Given the description of an element on the screen output the (x, y) to click on. 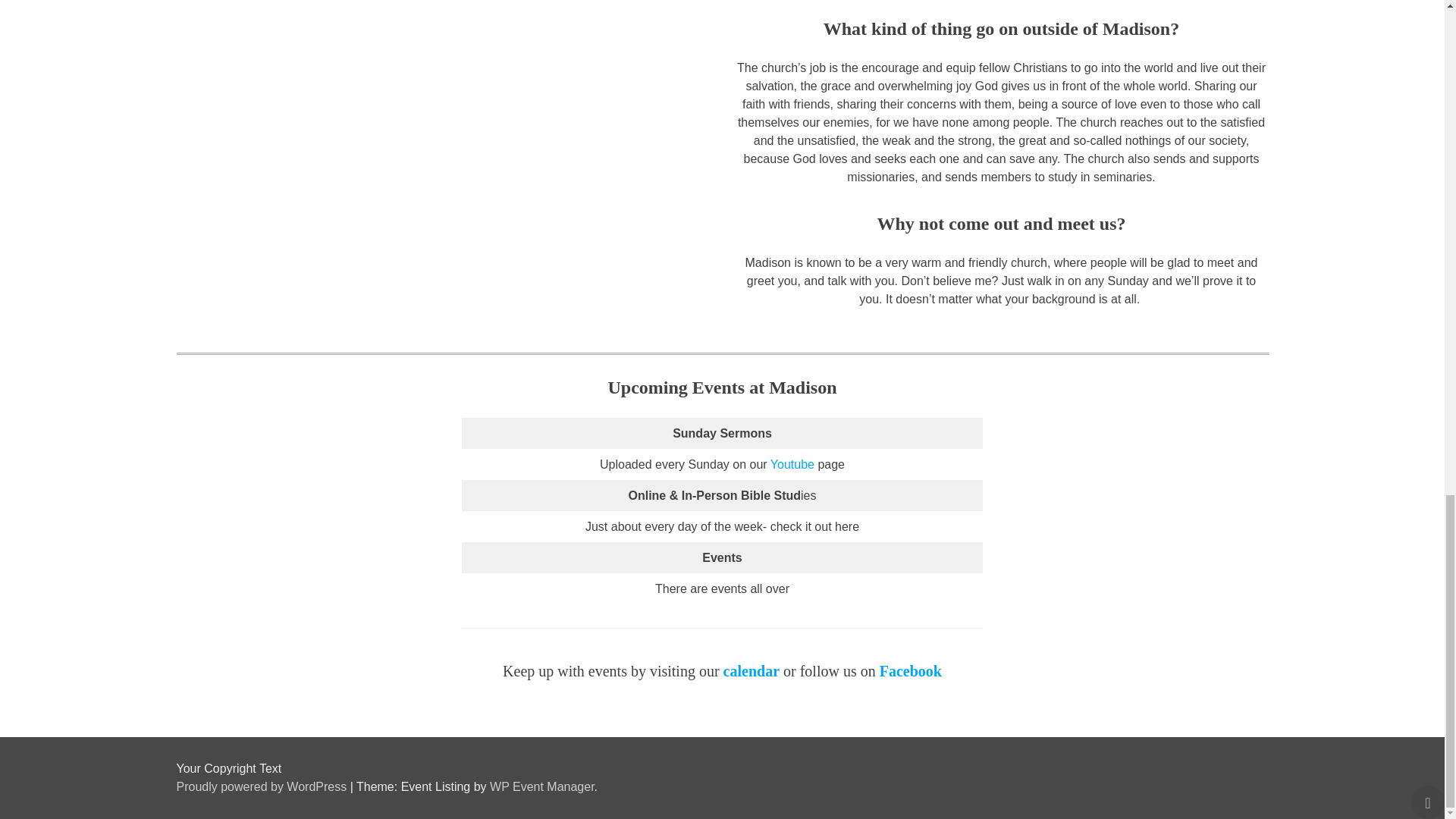
calendar (750, 670)
Facebook (910, 670)
Youtube (791, 463)
Proudly powered by WordPress (262, 786)
WP Event Manager (541, 786)
